Given the description of an element on the screen output the (x, y) to click on. 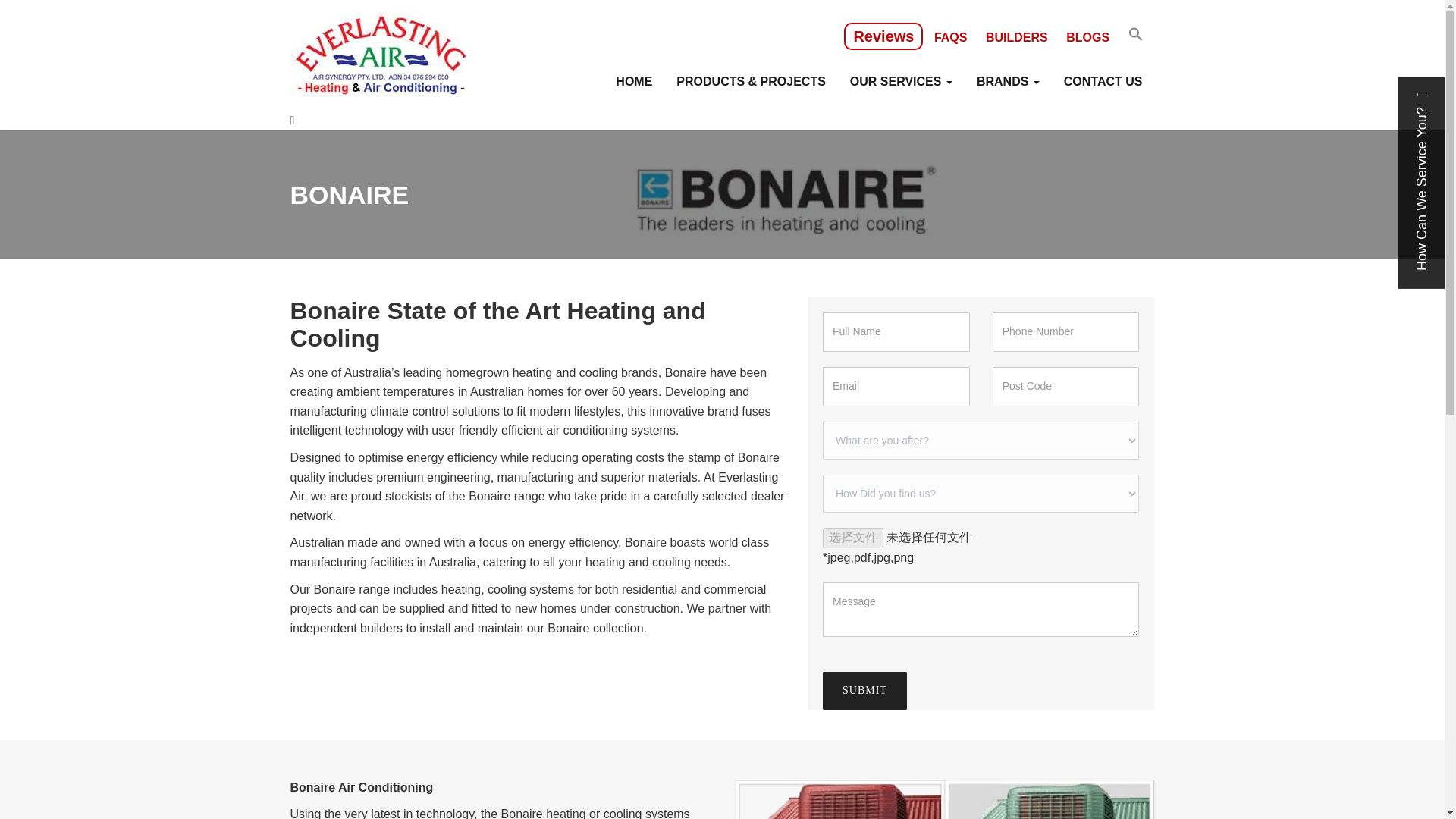
CONTACT US (1102, 83)
FAQS (950, 37)
FAQs (950, 37)
Home (633, 83)
BLOGS (1087, 37)
Everlasting Air (381, 58)
Brands (1007, 83)
OUR SERVICES (900, 83)
Builders (1016, 37)
BUILDERS (1016, 37)
HOME (633, 83)
Our Services (900, 83)
Reviews (883, 35)
Reviews (883, 35)
Submit (864, 690)
